Given the description of an element on the screen output the (x, y) to click on. 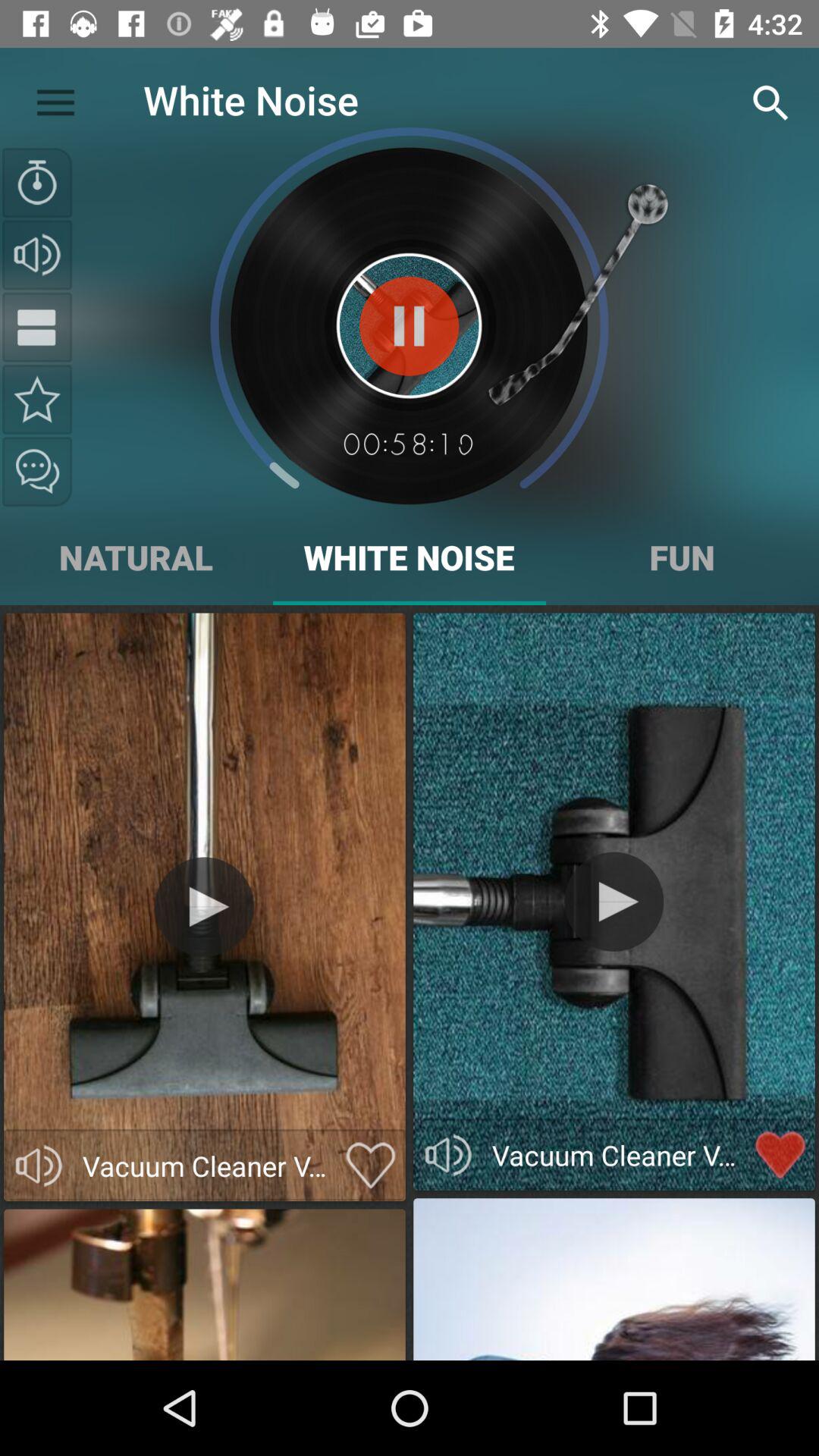
play sound (38, 1166)
